Given the description of an element on the screen output the (x, y) to click on. 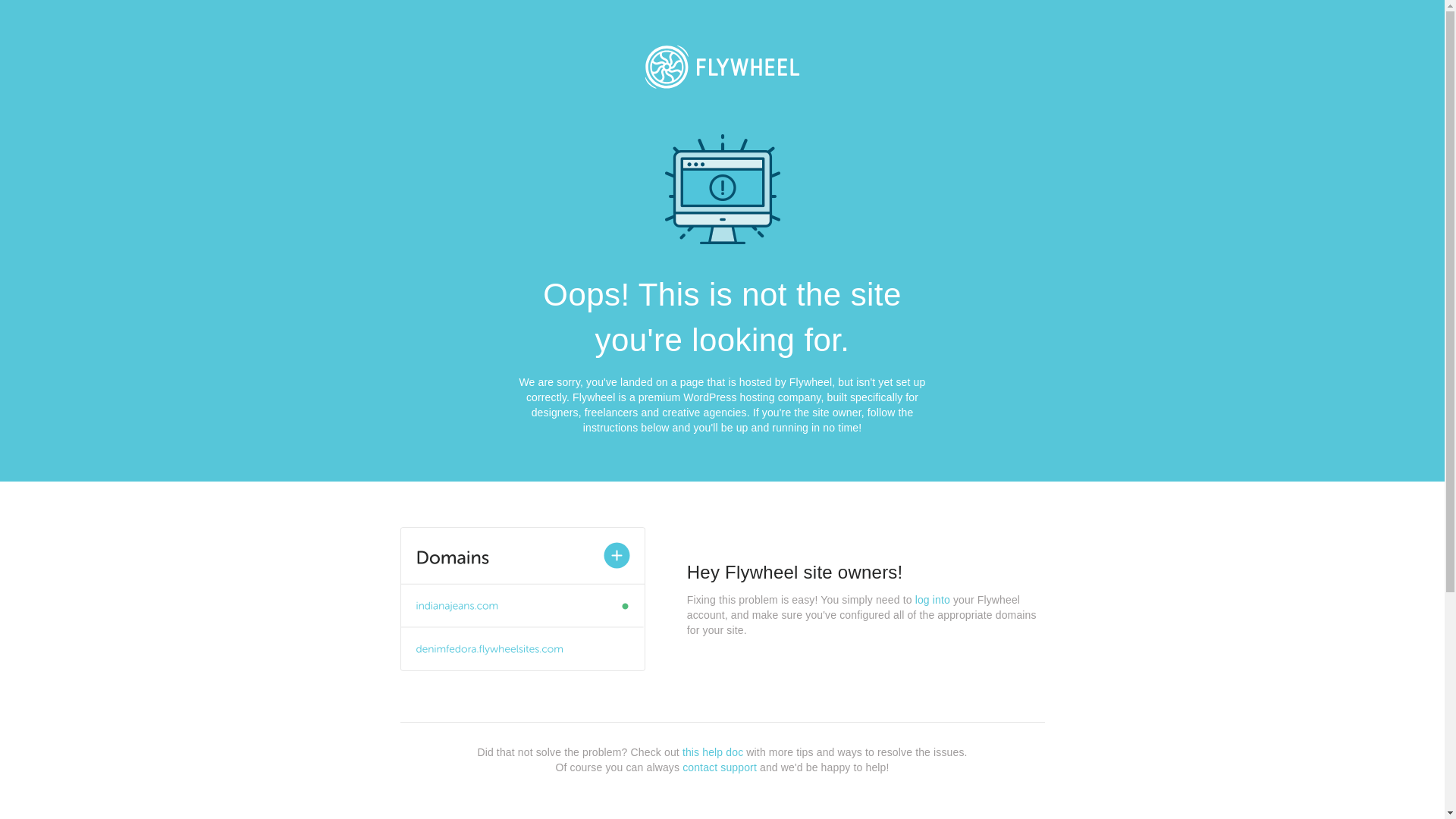
this help doc (712, 752)
contact support (719, 767)
log into (932, 599)
